Given the description of an element on the screen output the (x, y) to click on. 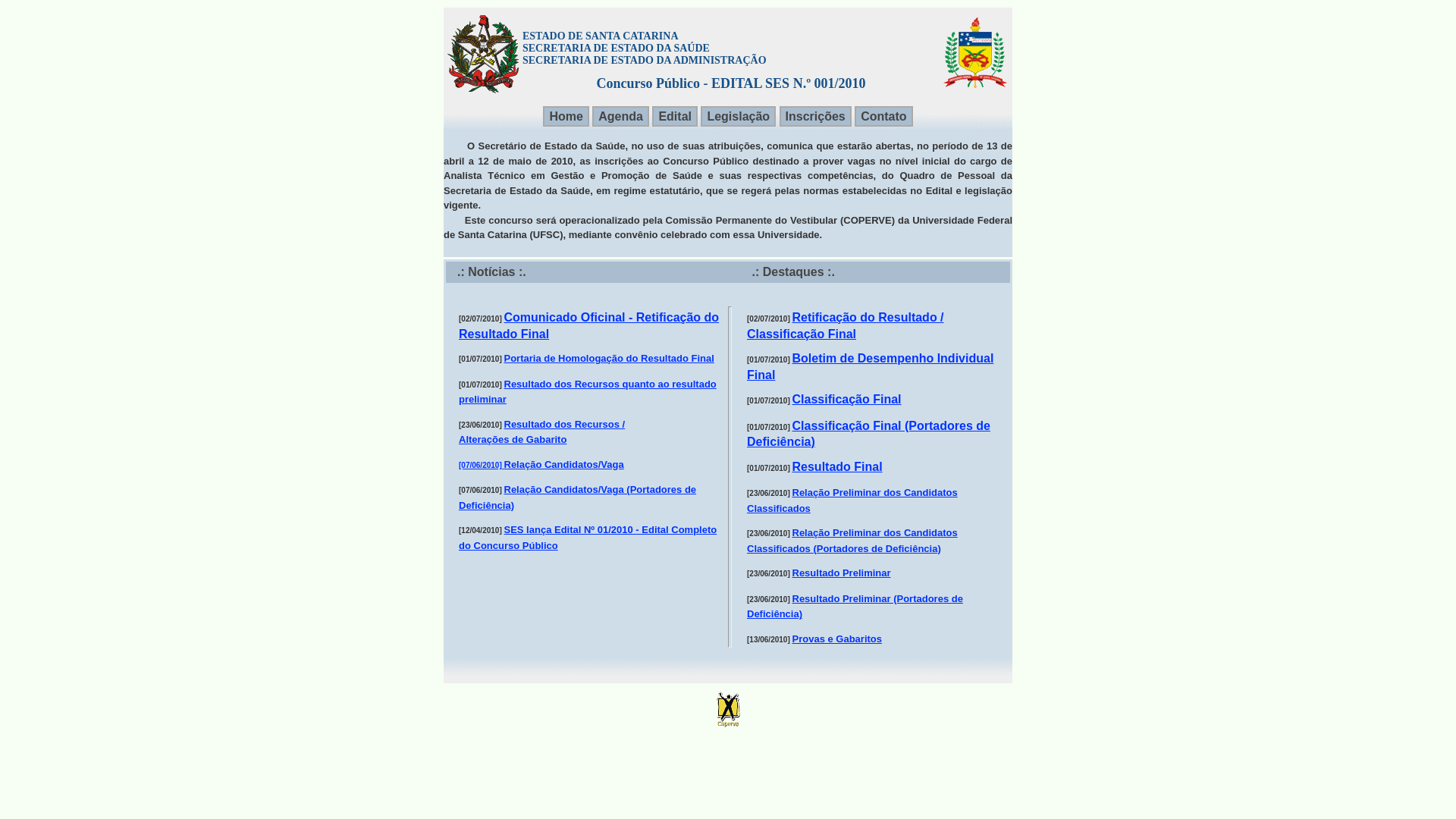
Contato Element type: text (883, 116)
Agenda Element type: text (620, 116)
Edital Element type: text (674, 116)
Home Element type: text (565, 116)
Resultado Final Element type: text (836, 465)
Provas e Gabaritos Element type: text (836, 637)
Boletim de Desempenho Individual Final Element type: text (869, 366)
Resultado dos Recursos quanto ao resultado preliminar Element type: text (587, 390)
[07/06/2010] Element type: text (481, 463)
Resultado Preliminar Element type: text (840, 572)
